Given the description of an element on the screen output the (x, y) to click on. 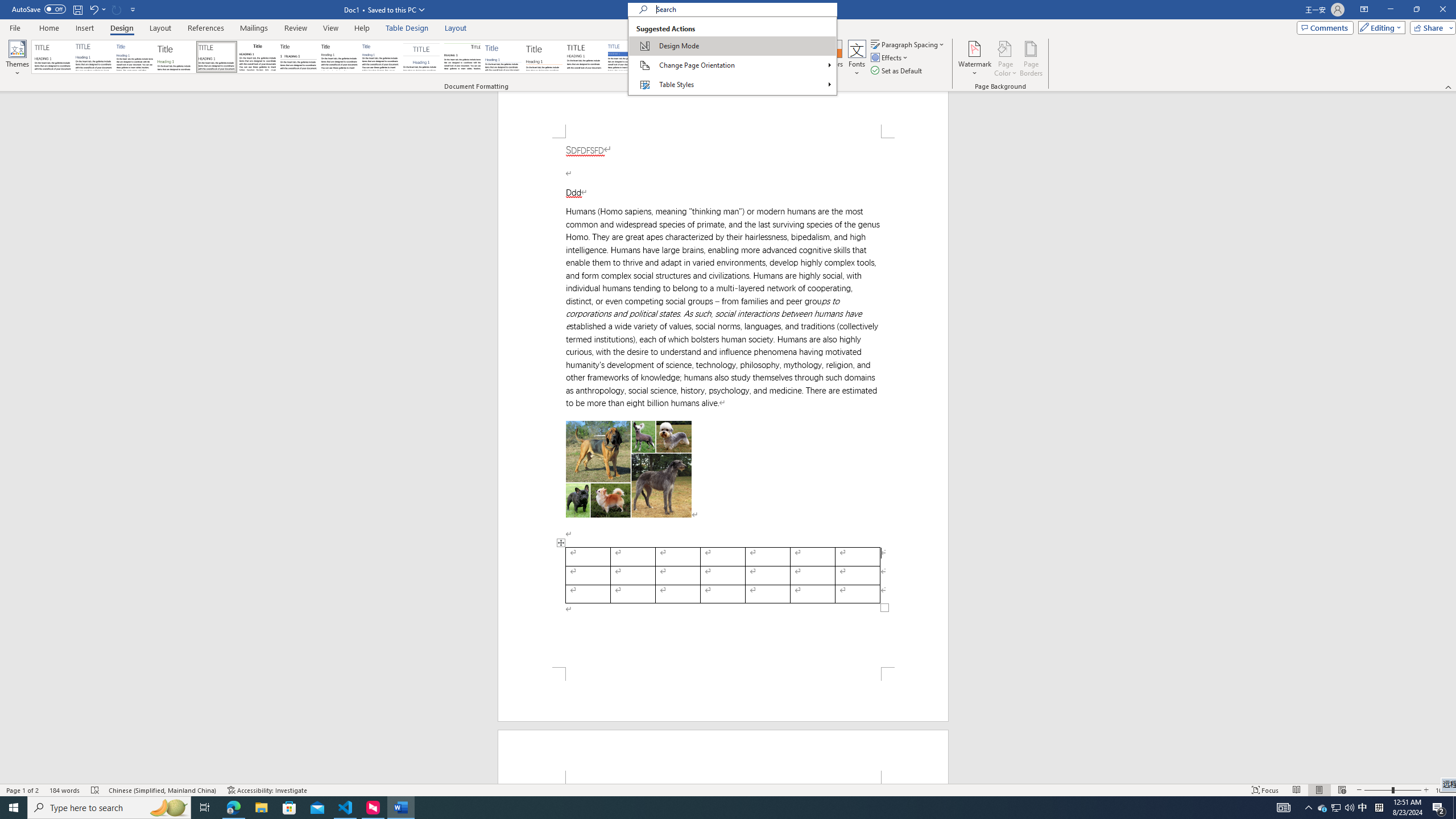
Page 1 content (723, 402)
Centered (421, 56)
Page Borders... (1031, 58)
Word 2003 (707, 56)
Casual (379, 56)
Black & White (Numbered) (298, 56)
